Given the description of an element on the screen output the (x, y) to click on. 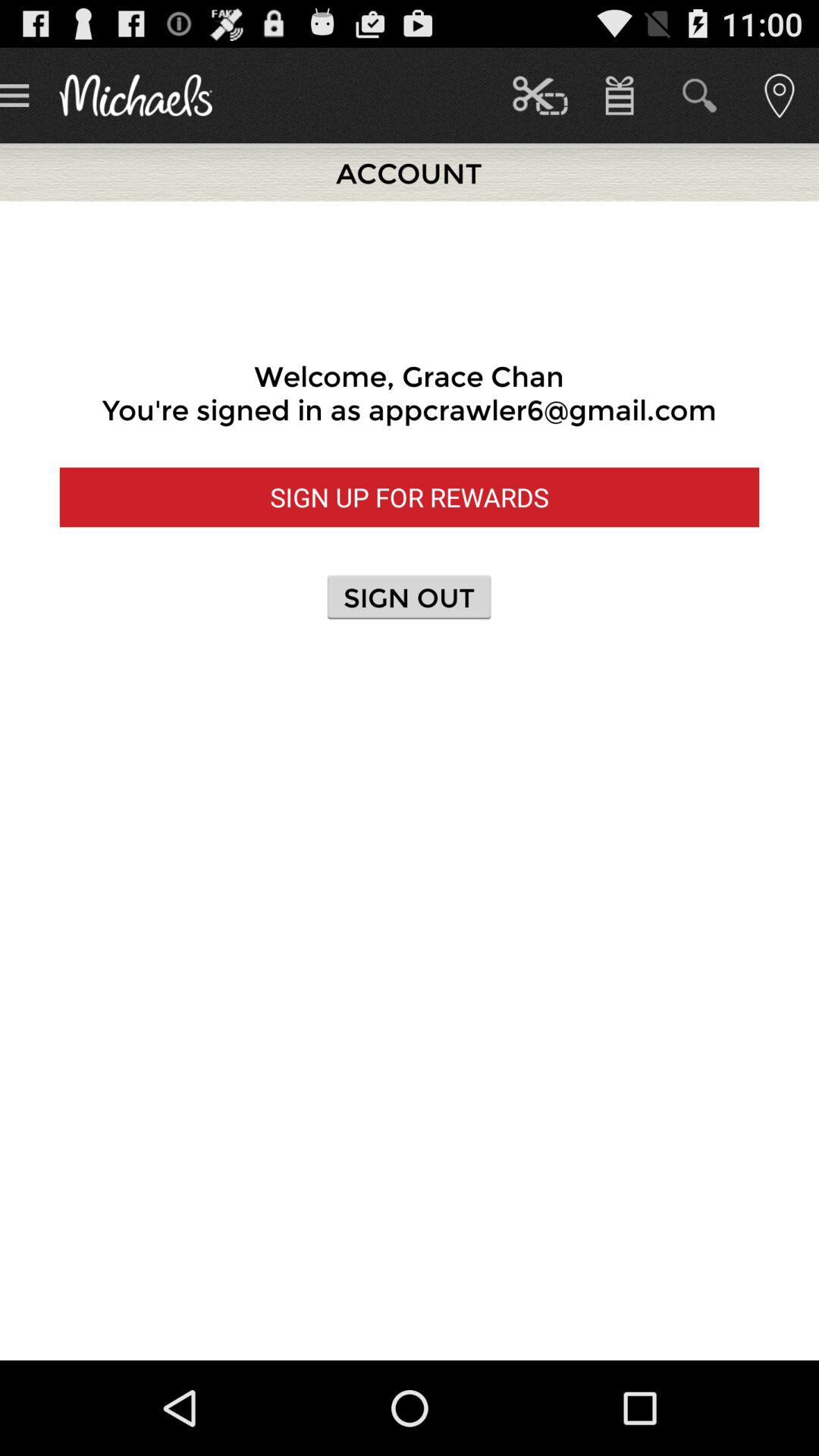
scroll to the sign out item (408, 596)
